Given the description of an element on the screen output the (x, y) to click on. 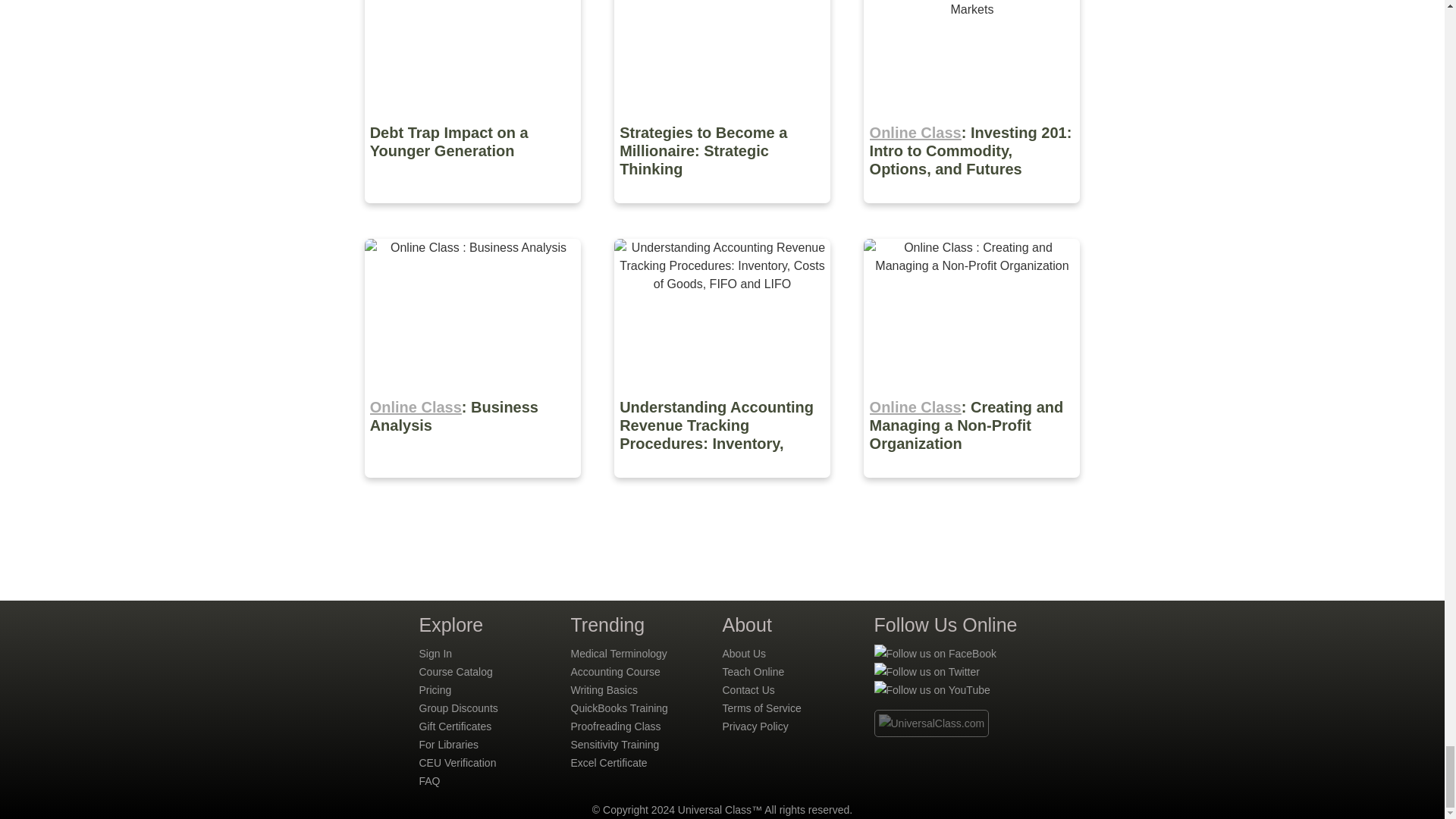
Debt Trap Impact on a Younger Generation (473, 214)
Online Class: Business Analysis (473, 488)
Strategies to Become a Millionaire: Strategic Thinking (723, 214)
